Given the description of an element on the screen output the (x, y) to click on. 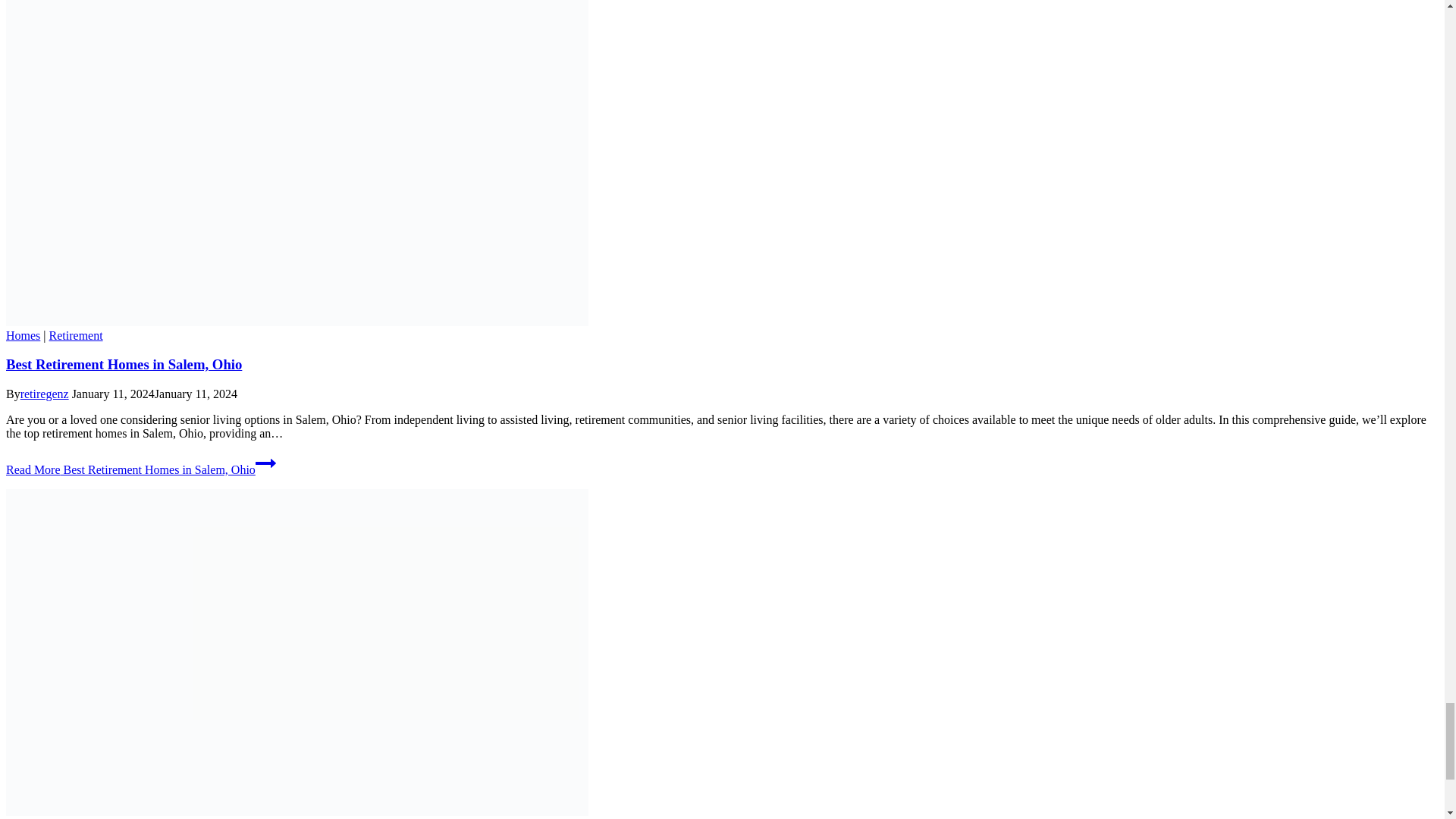
Continue (266, 463)
Retirement (76, 335)
Homes (22, 335)
